Given the description of an element on the screen output the (x, y) to click on. 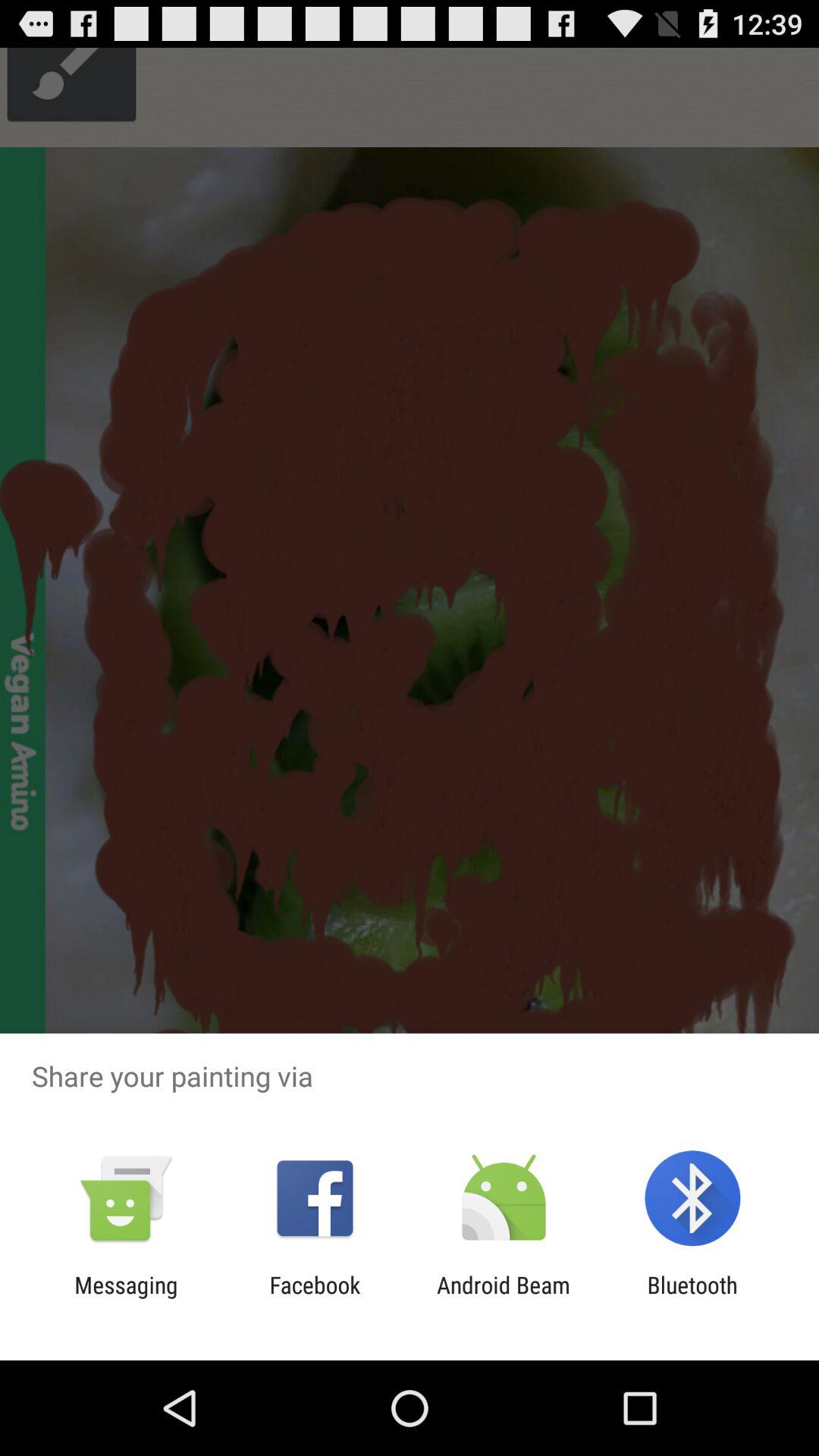
press app next to facebook icon (126, 1298)
